Given the description of an element on the screen output the (x, y) to click on. 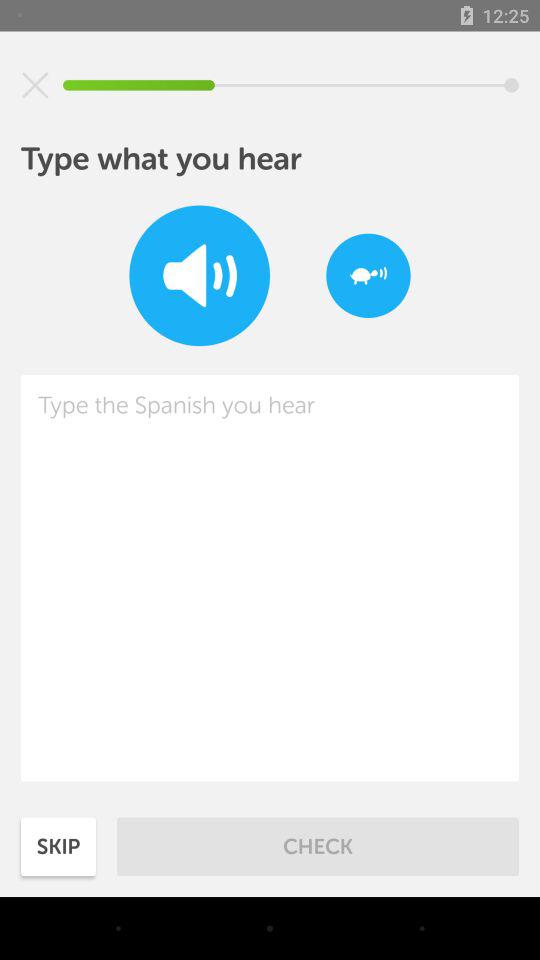
speak slowly (368, 275)
